Given the description of an element on the screen output the (x, y) to click on. 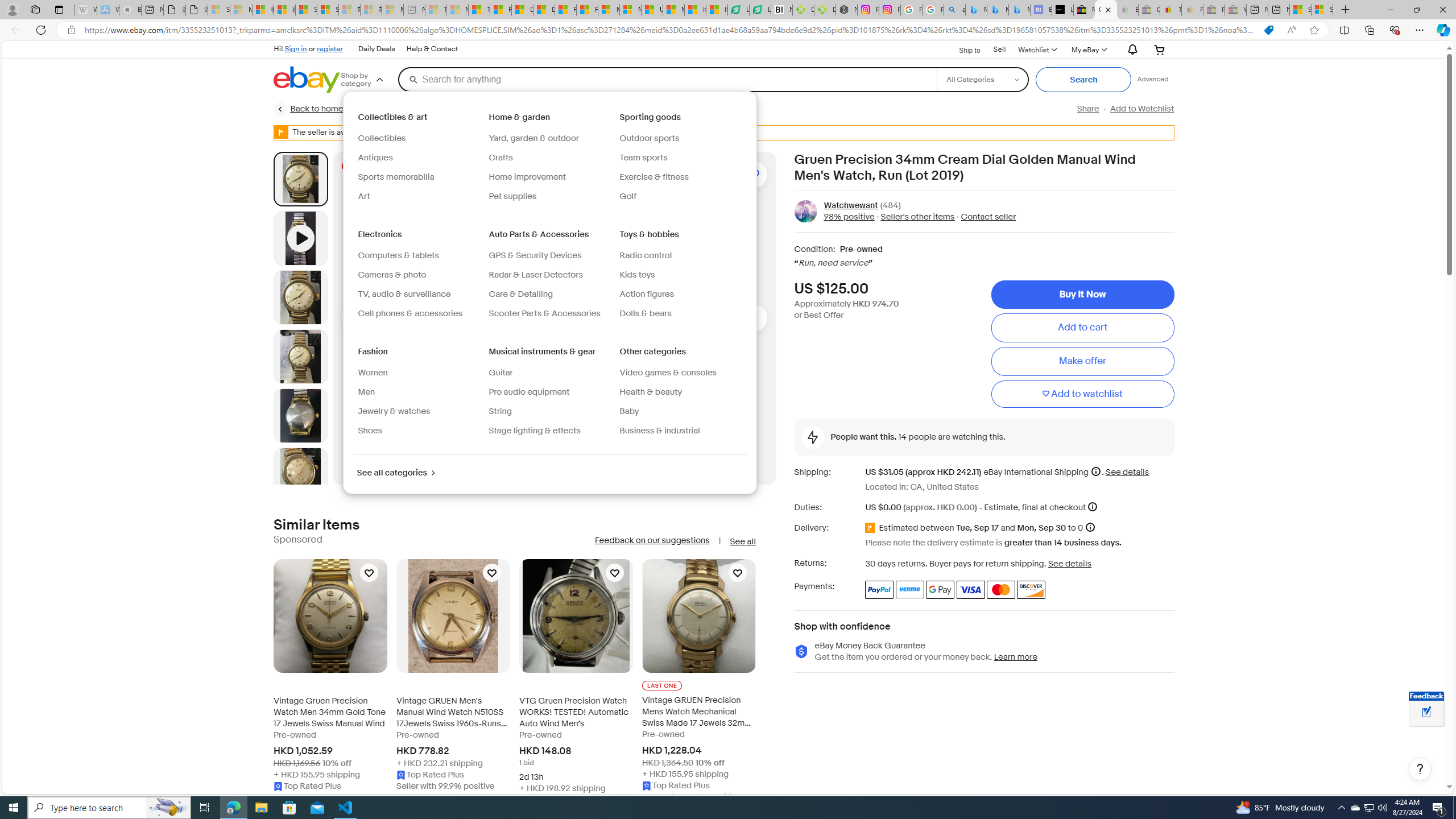
Care & Detailing (520, 294)
Google Pay (940, 588)
Back to home page (319, 109)
Buy iPad - Apple - Sleeping (130, 9)
Sporting goods (651, 117)
Wristwatches (667, 108)
Radar & Laser Detectors (549, 275)
See details - for more information about returns (1070, 563)
Pro audio equipment (549, 392)
Team sports (679, 157)
  Contact seller (984, 216)
Radio control (679, 255)
